Given the description of an element on the screen output the (x, y) to click on. 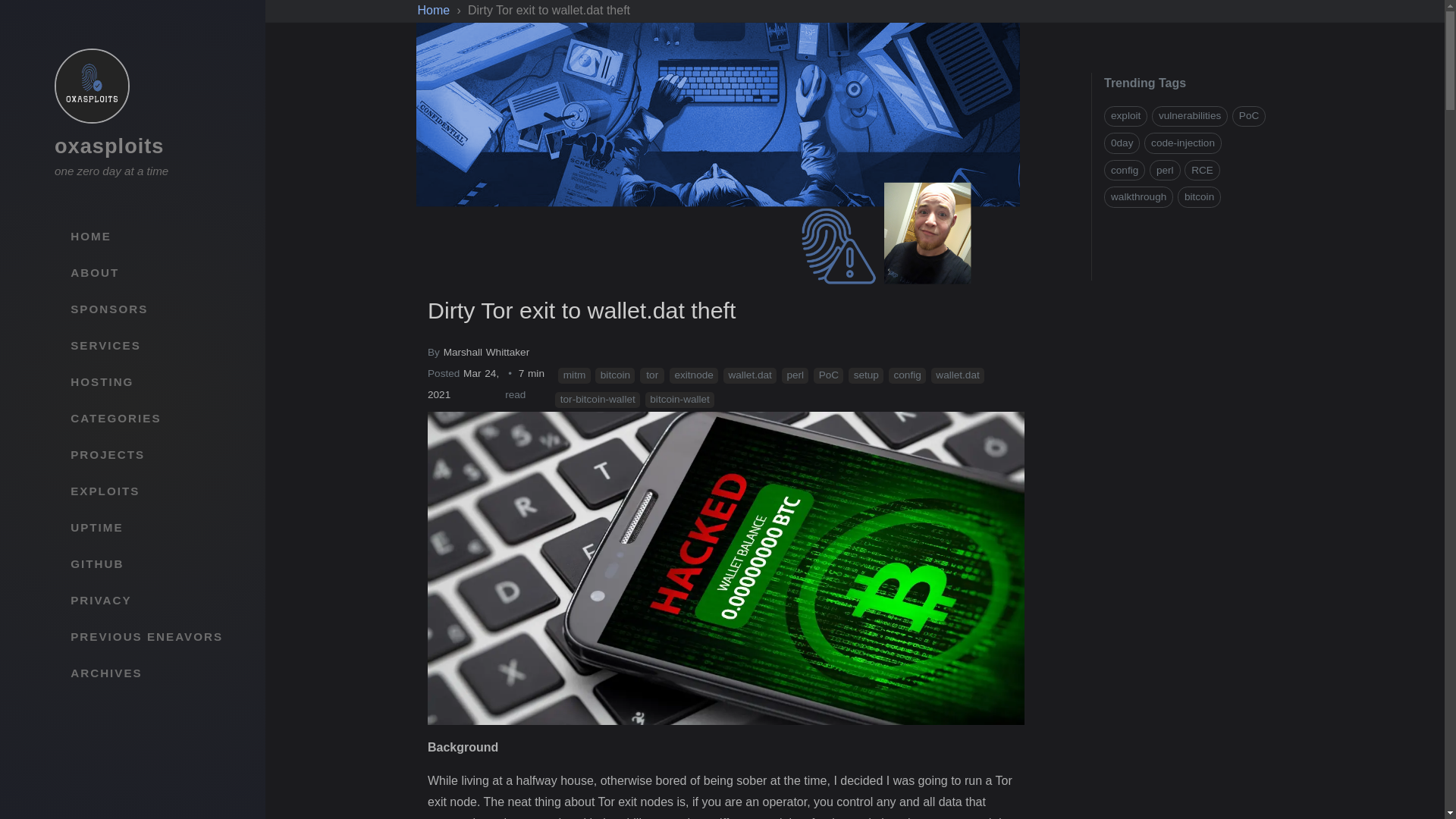
PREVIOUS ENEAVORS (147, 637)
PROJECTS (147, 454)
CATEGORIES (147, 418)
Marshall Whittaker (486, 351)
Home (434, 10)
UPTIME (147, 527)
PoC (828, 375)
1414 words (529, 387)
Wed, Mar 24, 2021,  3:23 PM -0400 (463, 383)
PRIVACY (147, 600)
